Given the description of an element on the screen output the (x, y) to click on. 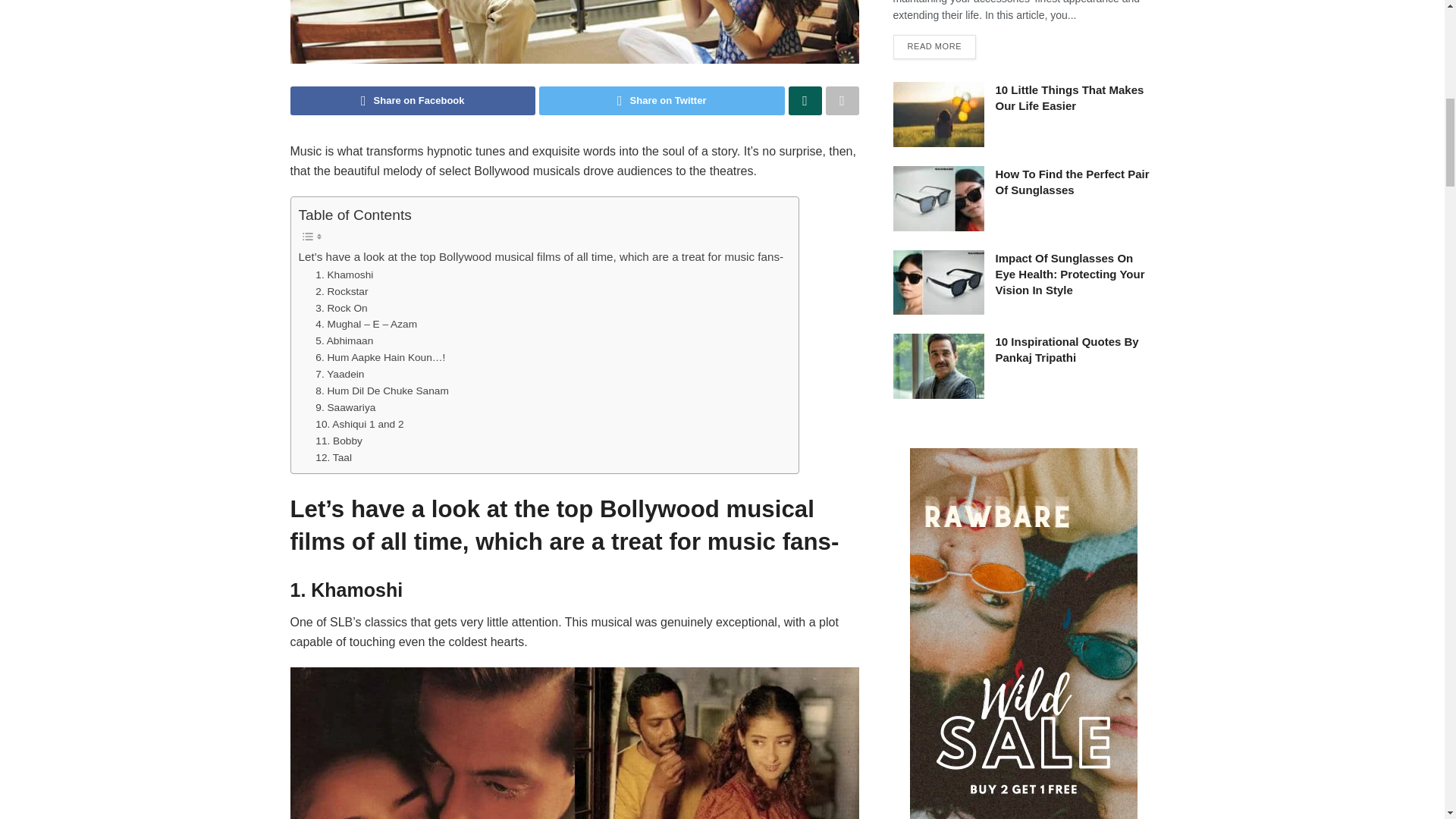
8. Hum Dil De Chuke Sanam (381, 391)
5. Abhimaan (343, 340)
10. Ashiqui 1 and 2 (359, 424)
2. Rockstar (341, 291)
3. Rock On (340, 308)
